Given the description of an element on the screen output the (x, y) to click on. 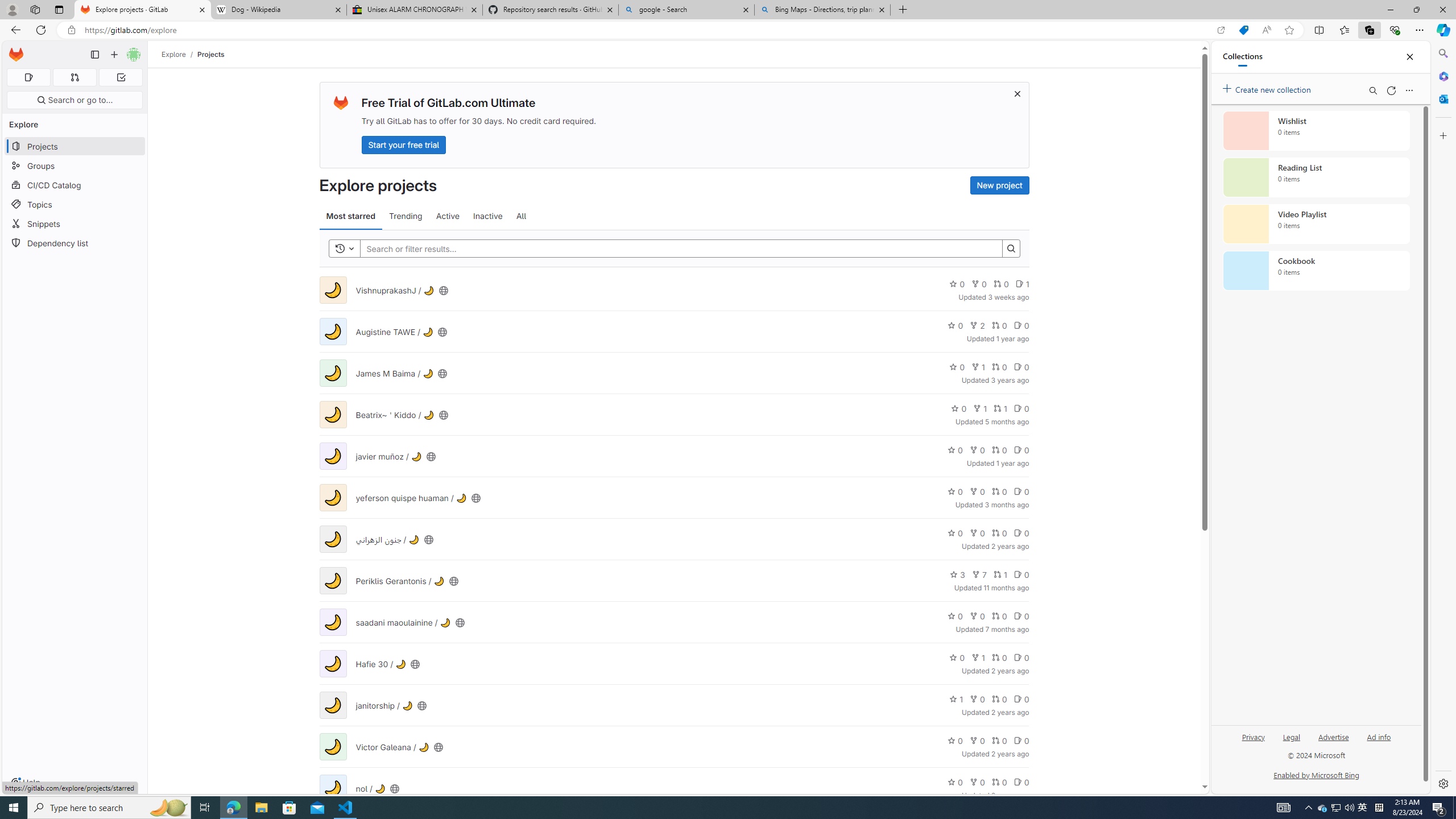
Explore (173, 53)
More options menu (1409, 90)
All (520, 216)
google - Search (685, 9)
Advertise (1333, 736)
Skip to main content (13, 49)
Class: s16 gl-icon gl-button-icon  (1016, 93)
Reading List collection, 0 items (1316, 177)
